Given the description of an element on the screen output the (x, y) to click on. 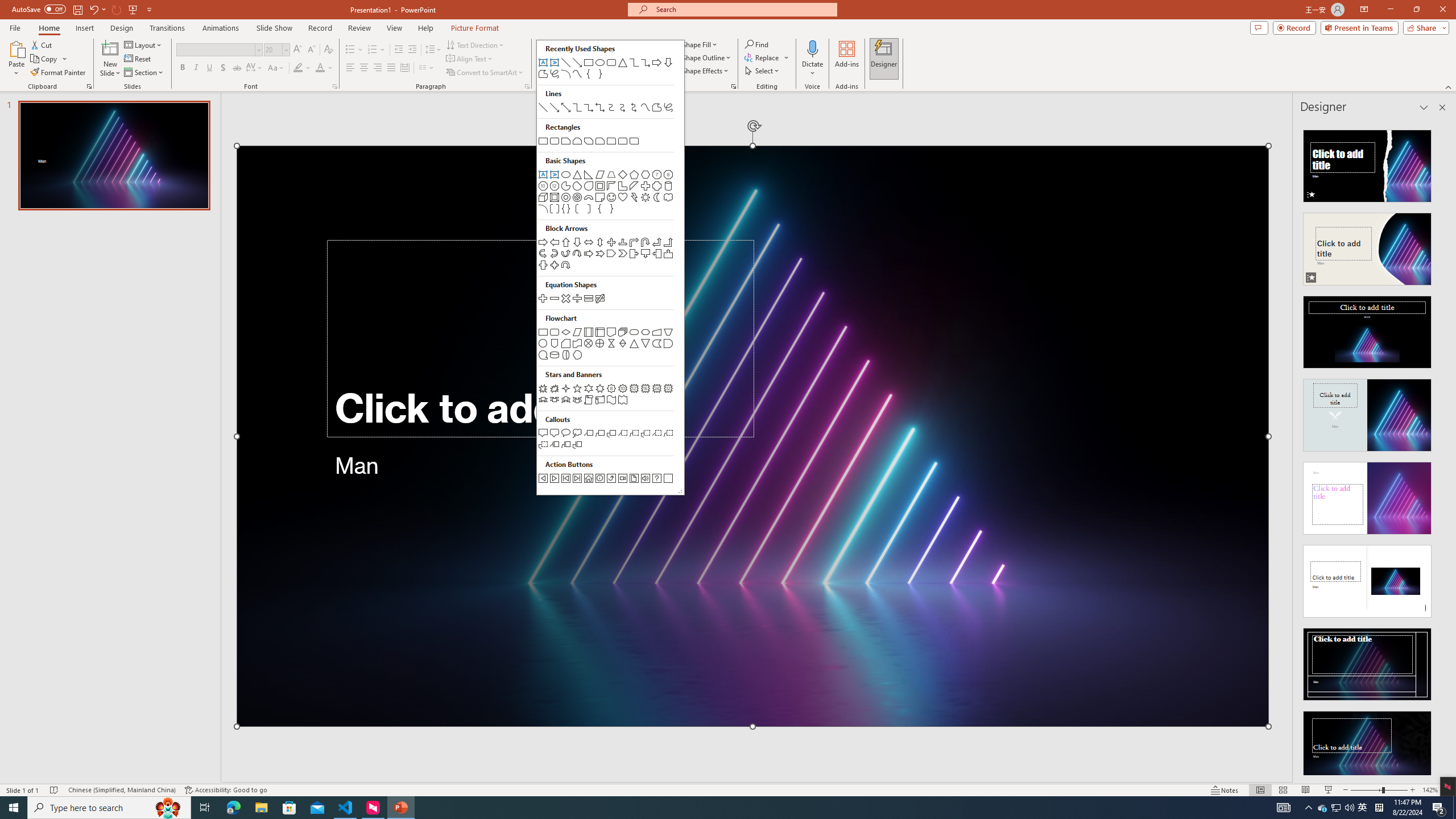
Align Left (349, 67)
Font (219, 49)
Redo (117, 9)
New Slide (110, 58)
Comments (1259, 27)
Task Pane Options (1423, 107)
Find... (756, 44)
Bullets (349, 49)
Slide Sorter (1282, 790)
Change Case (276, 67)
Decrease Indent (398, 49)
Paste (16, 48)
Paragraph... (526, 85)
Font Size (273, 49)
